Given the description of an element on the screen output the (x, y) to click on. 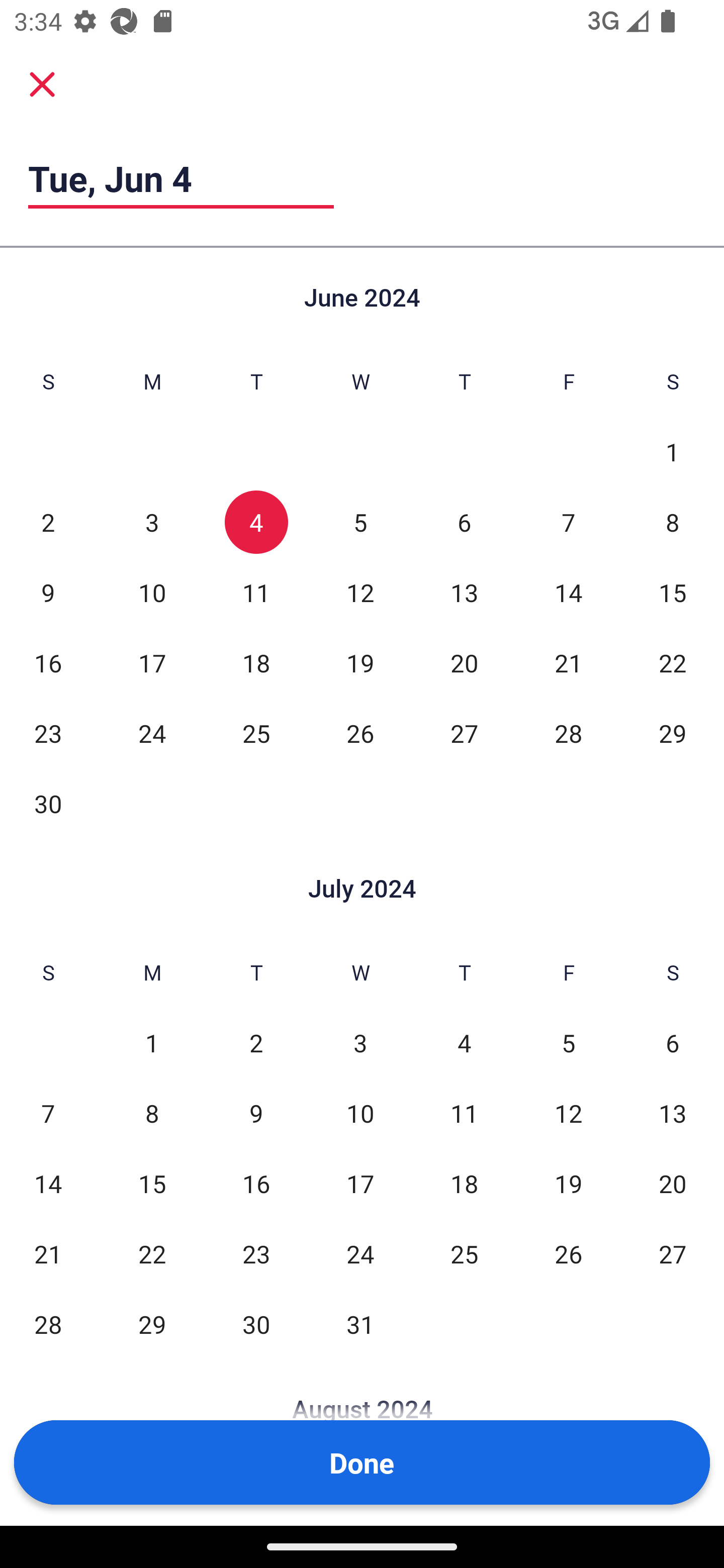
Cancel (41, 83)
Tue, Jun 4 (180, 178)
1 Sat, Jun 1, Not Selected (672, 452)
2 Sun, Jun 2, Not Selected (48, 521)
3 Mon, Jun 3, Not Selected (152, 521)
4 Tue, Jun 4, Selected (256, 521)
5 Wed, Jun 5, Not Selected (360, 521)
6 Thu, Jun 6, Not Selected (464, 521)
7 Fri, Jun 7, Not Selected (568, 521)
8 Sat, Jun 8, Not Selected (672, 521)
9 Sun, Jun 9, Not Selected (48, 591)
10 Mon, Jun 10, Not Selected (152, 591)
11 Tue, Jun 11, Not Selected (256, 591)
12 Wed, Jun 12, Not Selected (360, 591)
13 Thu, Jun 13, Not Selected (464, 591)
14 Fri, Jun 14, Not Selected (568, 591)
15 Sat, Jun 15, Not Selected (672, 591)
16 Sun, Jun 16, Not Selected (48, 662)
17 Mon, Jun 17, Not Selected (152, 662)
18 Tue, Jun 18, Not Selected (256, 662)
19 Wed, Jun 19, Not Selected (360, 662)
20 Thu, Jun 20, Not Selected (464, 662)
21 Fri, Jun 21, Not Selected (568, 662)
22 Sat, Jun 22, Not Selected (672, 662)
23 Sun, Jun 23, Not Selected (48, 732)
24 Mon, Jun 24, Not Selected (152, 732)
25 Tue, Jun 25, Not Selected (256, 732)
26 Wed, Jun 26, Not Selected (360, 732)
27 Thu, Jun 27, Not Selected (464, 732)
28 Fri, Jun 28, Not Selected (568, 732)
29 Sat, Jun 29, Not Selected (672, 732)
30 Sun, Jun 30, Not Selected (48, 803)
1 Mon, Jul 1, Not Selected (152, 1043)
2 Tue, Jul 2, Not Selected (256, 1043)
3 Wed, Jul 3, Not Selected (360, 1043)
4 Thu, Jul 4, Not Selected (464, 1043)
5 Fri, Jul 5, Not Selected (568, 1043)
6 Sat, Jul 6, Not Selected (672, 1043)
7 Sun, Jul 7, Not Selected (48, 1112)
8 Mon, Jul 8, Not Selected (152, 1112)
9 Tue, Jul 9, Not Selected (256, 1112)
10 Wed, Jul 10, Not Selected (360, 1112)
11 Thu, Jul 11, Not Selected (464, 1112)
12 Fri, Jul 12, Not Selected (568, 1112)
13 Sat, Jul 13, Not Selected (672, 1112)
14 Sun, Jul 14, Not Selected (48, 1182)
15 Mon, Jul 15, Not Selected (152, 1182)
16 Tue, Jul 16, Not Selected (256, 1182)
17 Wed, Jul 17, Not Selected (360, 1182)
18 Thu, Jul 18, Not Selected (464, 1182)
19 Fri, Jul 19, Not Selected (568, 1182)
20 Sat, Jul 20, Not Selected (672, 1182)
21 Sun, Jul 21, Not Selected (48, 1253)
22 Mon, Jul 22, Not Selected (152, 1253)
23 Tue, Jul 23, Not Selected (256, 1253)
24 Wed, Jul 24, Not Selected (360, 1253)
25 Thu, Jul 25, Not Selected (464, 1253)
26 Fri, Jul 26, Not Selected (568, 1253)
27 Sat, Jul 27, Not Selected (672, 1253)
28 Sun, Jul 28, Not Selected (48, 1323)
29 Mon, Jul 29, Not Selected (152, 1323)
30 Tue, Jul 30, Not Selected (256, 1323)
31 Wed, Jul 31, Not Selected (360, 1323)
Done Button Done (361, 1462)
